Given the description of an element on the screen output the (x, y) to click on. 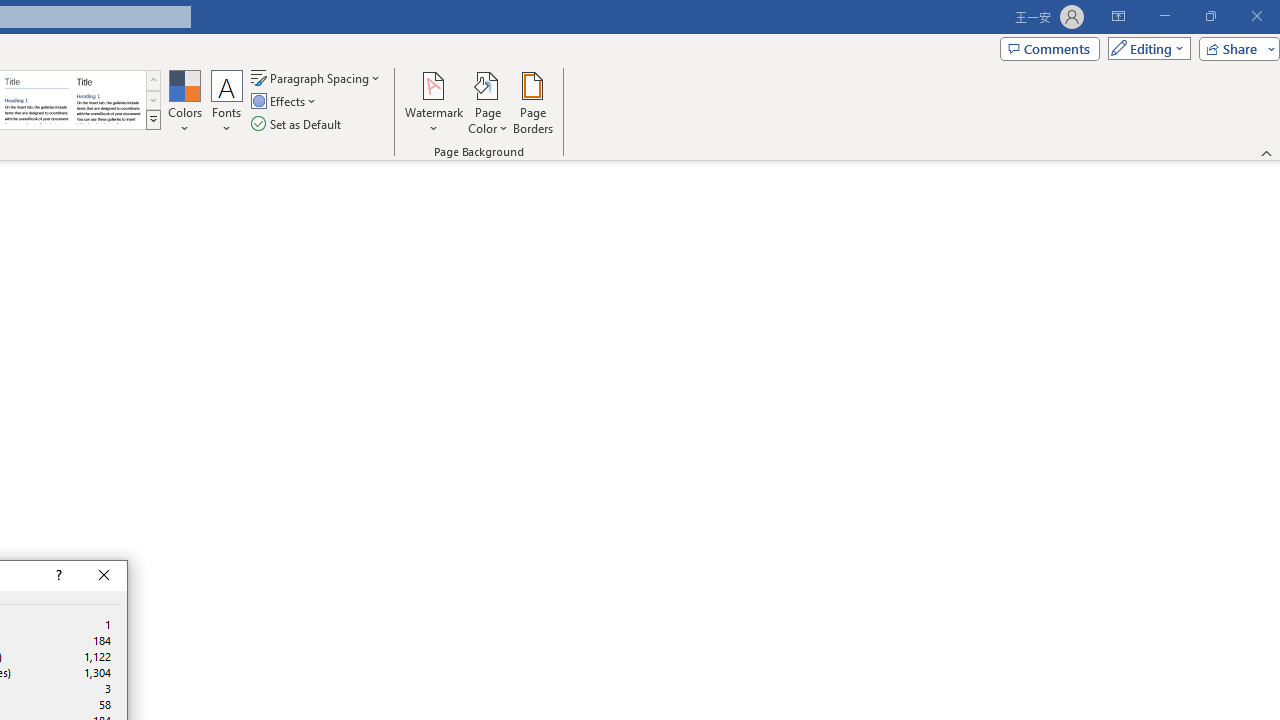
Class: NetUIImage (153, 119)
Minimize (1164, 16)
Page Borders... (532, 102)
Style Set (153, 120)
Effects (285, 101)
Row up (153, 79)
Colors (184, 102)
Share (1235, 48)
Set as Default (298, 124)
Fonts (227, 102)
Word 2013 (108, 100)
Editing (1144, 47)
Row Down (153, 100)
Close (104, 575)
